Given the description of an element on the screen output the (x, y) to click on. 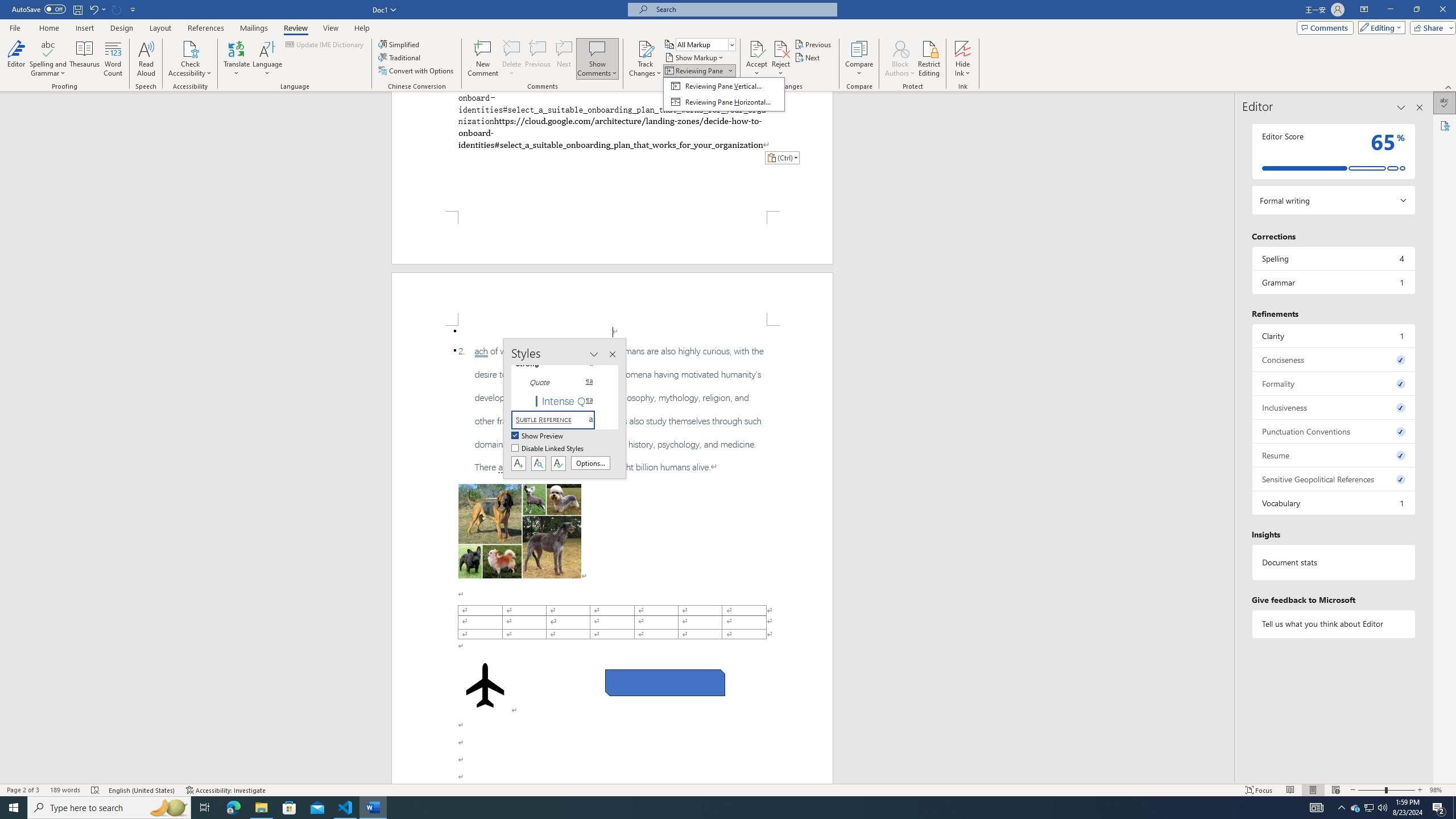
Quote (559, 382)
Subtle Reference (559, 419)
Reject and Move to Next (780, 48)
Clarity, 1 issue. Press space or enter to review items. (1333, 335)
Reviewing Pane (694, 69)
Running applications (717, 807)
Undo Paste (96, 9)
Thesaurus... (84, 58)
